Given the description of an element on the screen output the (x, y) to click on. 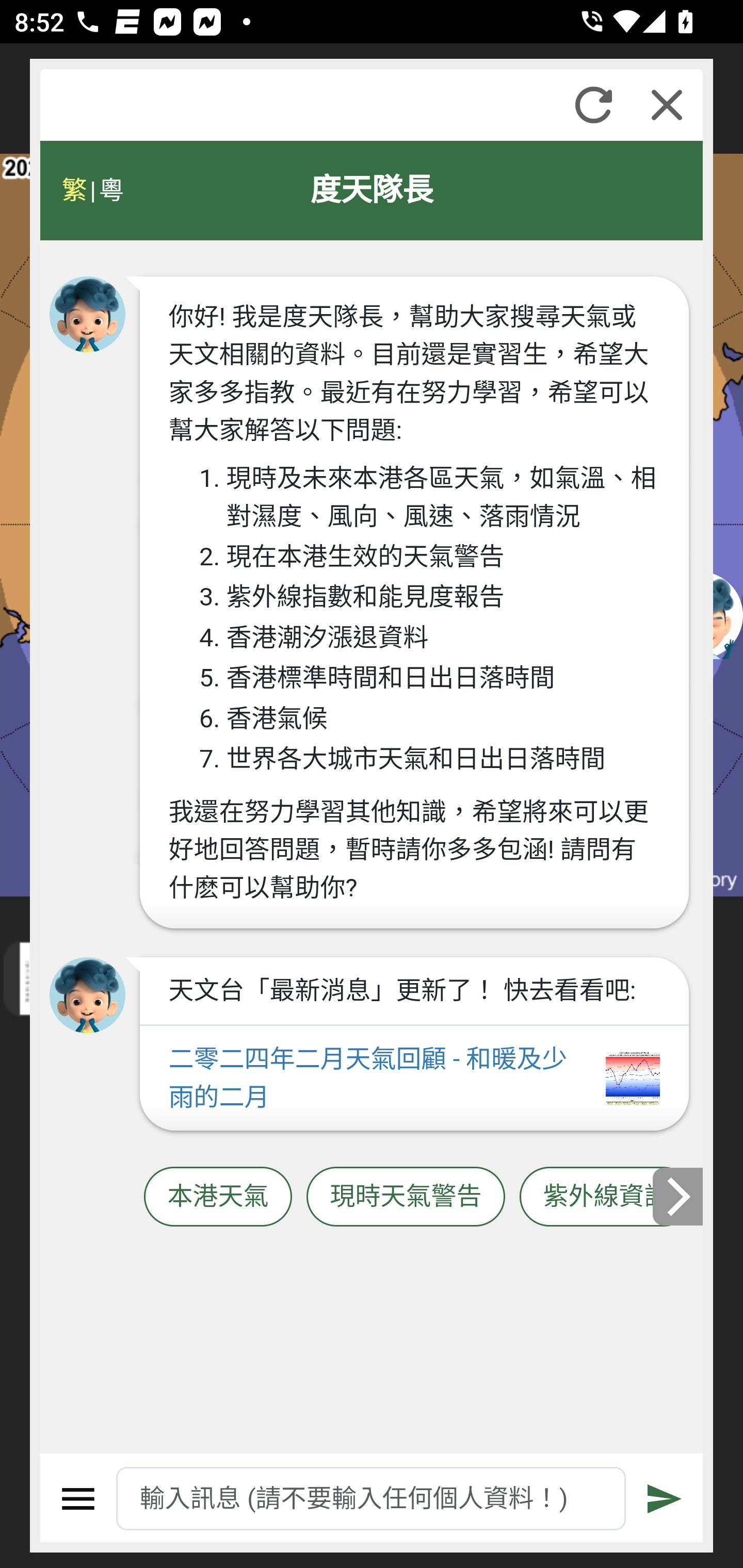
重新整理 (593, 104)
關閉 (666, 104)
繁 (73, 190)
粵 (110, 190)
二零二四年二月天氣回顧 - 和暖及少雨的二月 (413, 1078)
本港天氣 (217, 1196)
現時天氣警告 (405, 1196)
紫外線資訊 (605, 1196)
下一張 (678, 1196)
選單 (78, 1498)
遞交 (665, 1498)
